Given the description of an element on the screen output the (x, y) to click on. 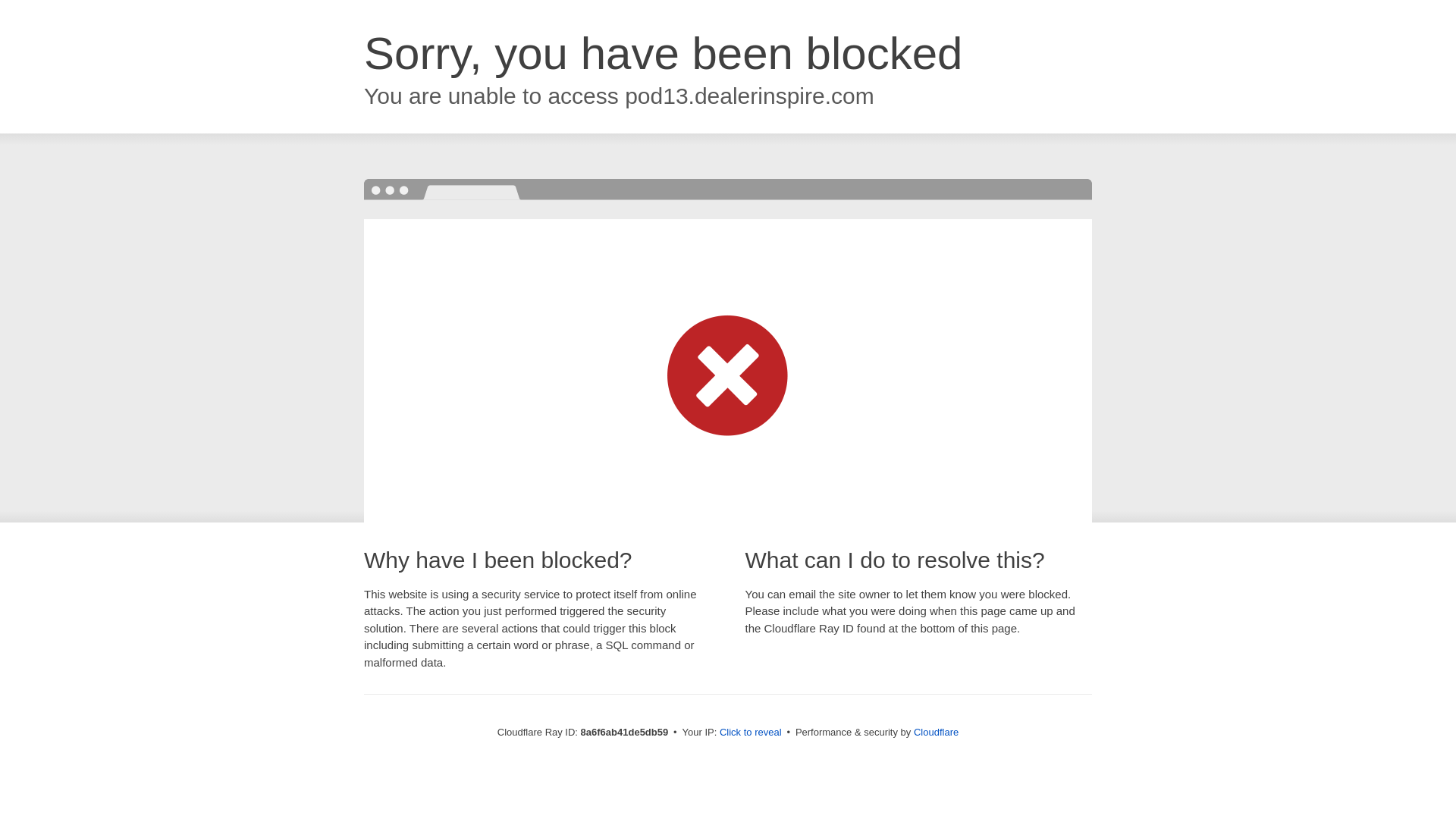
Click to reveal (750, 732)
Cloudflare (936, 731)
